Given the description of an element on the screen output the (x, y) to click on. 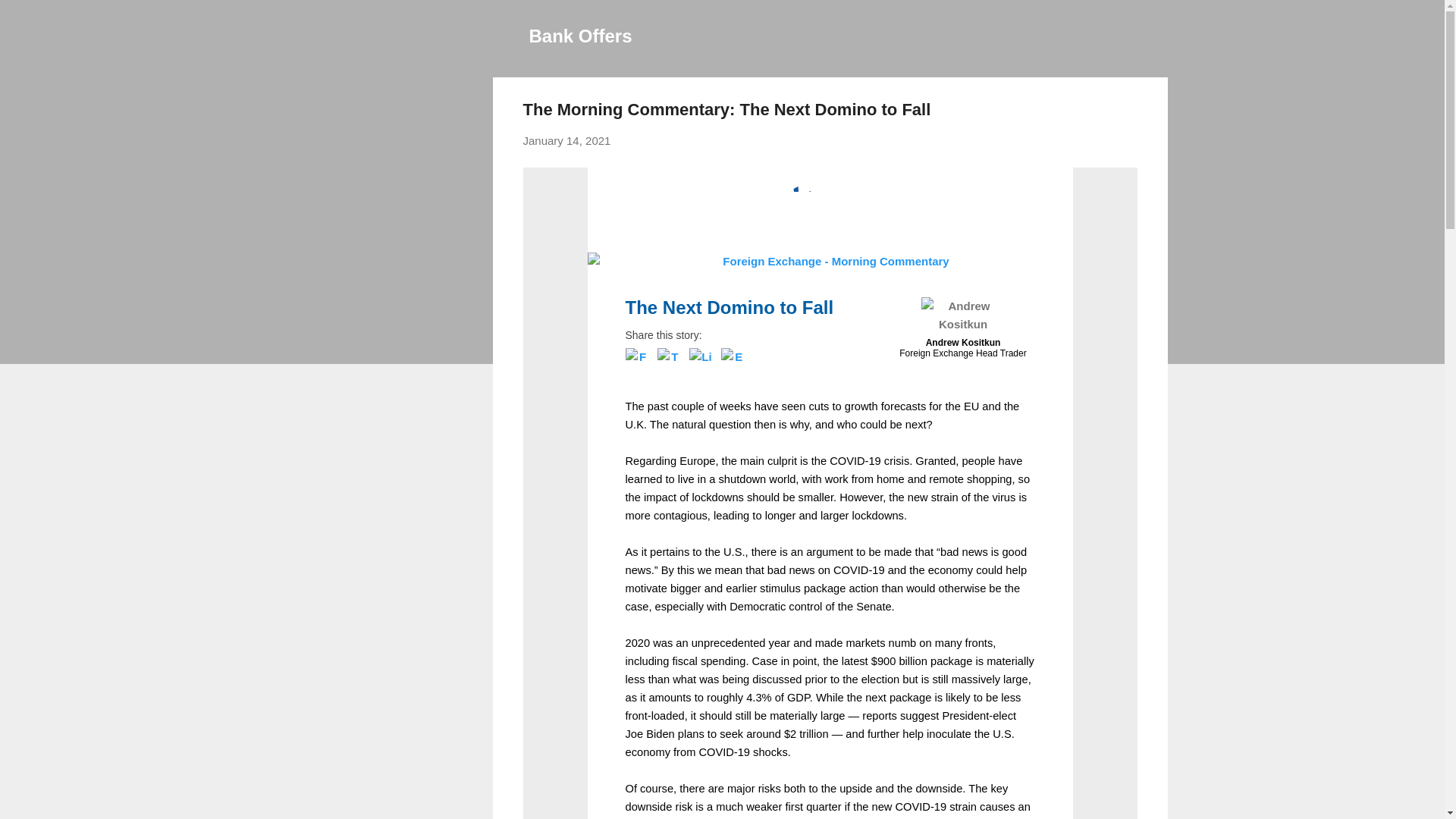
permanent link (566, 140)
January 14, 2021 (566, 140)
Bank Offers (580, 35)
Search (29, 18)
